Given the description of an element on the screen output the (x, y) to click on. 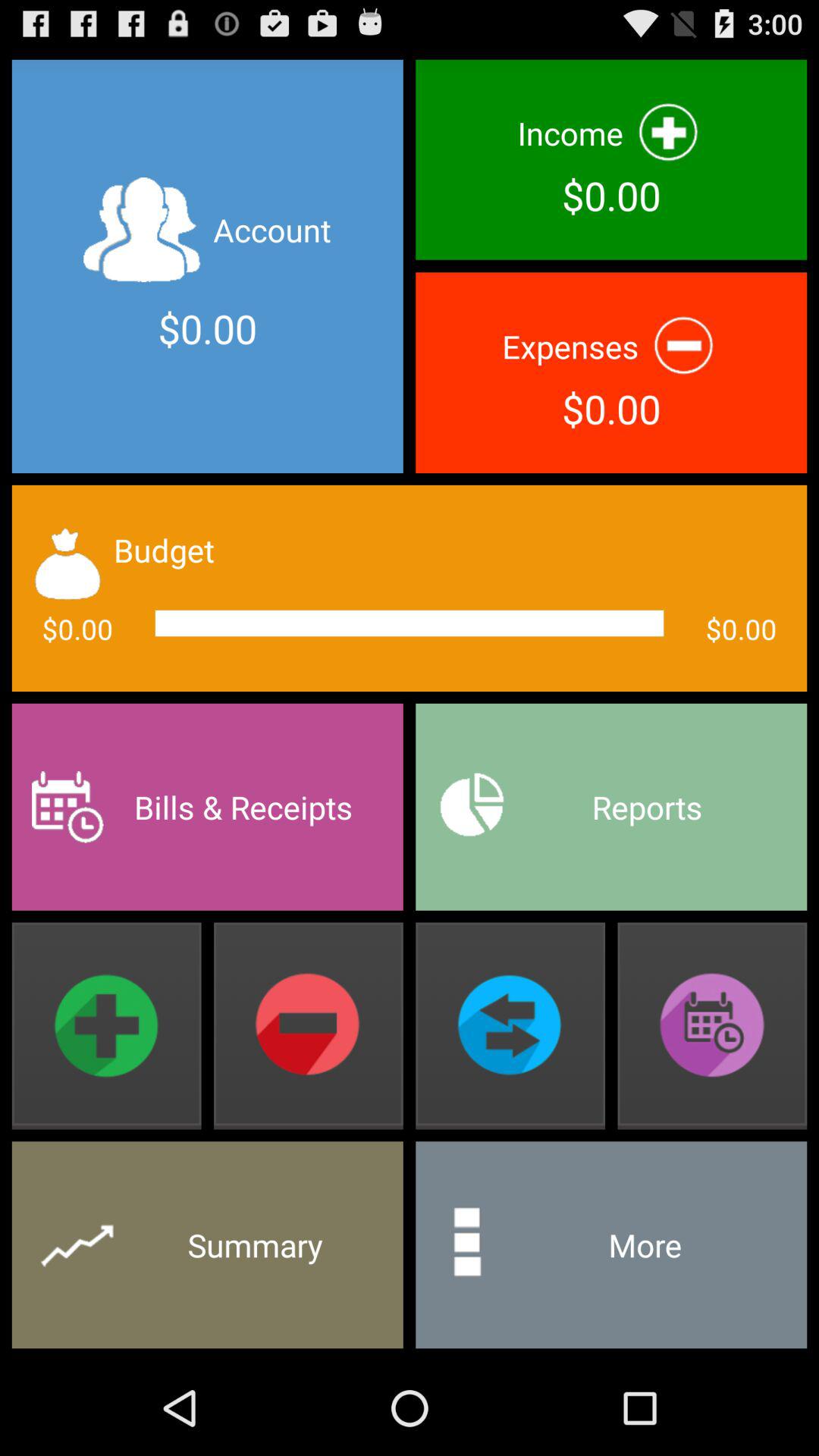
choose the item below the reports app (712, 1025)
